Given the description of an element on the screen output the (x, y) to click on. 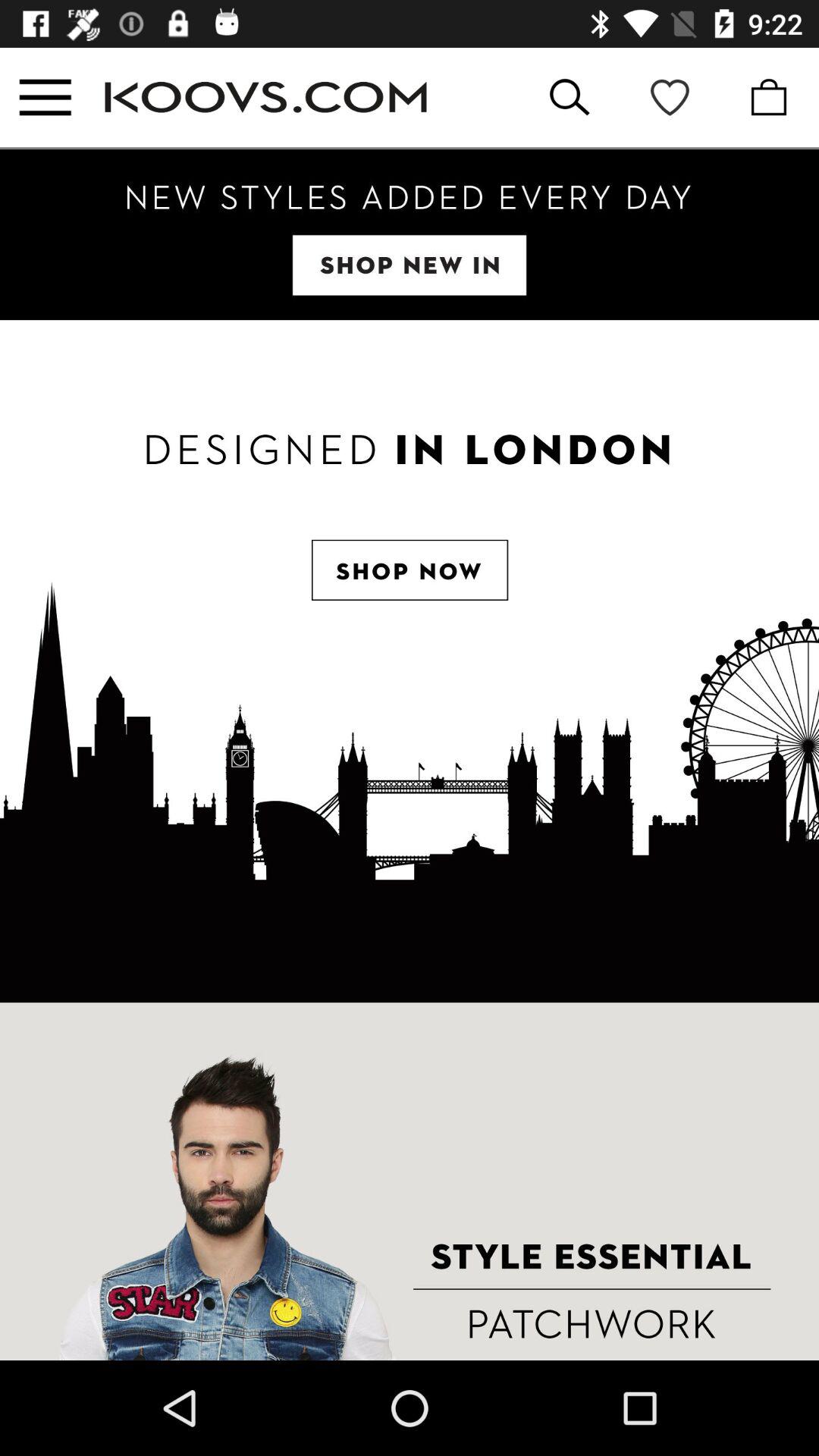
view items (409, 234)
